Given the description of an element on the screen output the (x, y) to click on. 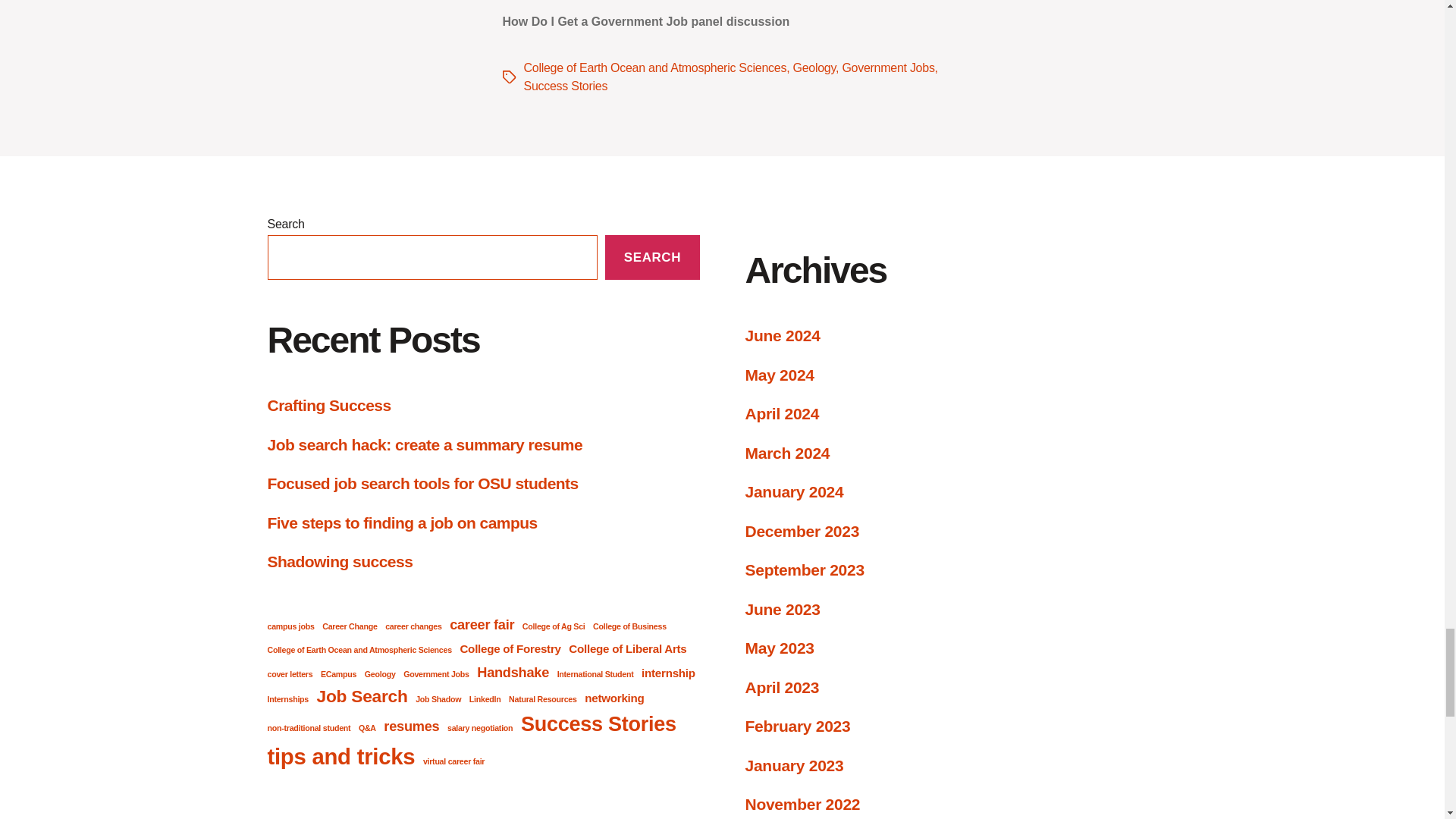
Crafting Success (328, 405)
Job search hack: create a summary resume (424, 443)
SEARCH (651, 257)
Geology (813, 67)
Five steps to finding a job on campus (401, 522)
Focused job search tools for OSU students (422, 483)
College of Earth Ocean and Atmospheric Sciences (654, 67)
Government Jobs (887, 67)
Success Stories (564, 85)
